Given the description of an element on the screen output the (x, y) to click on. 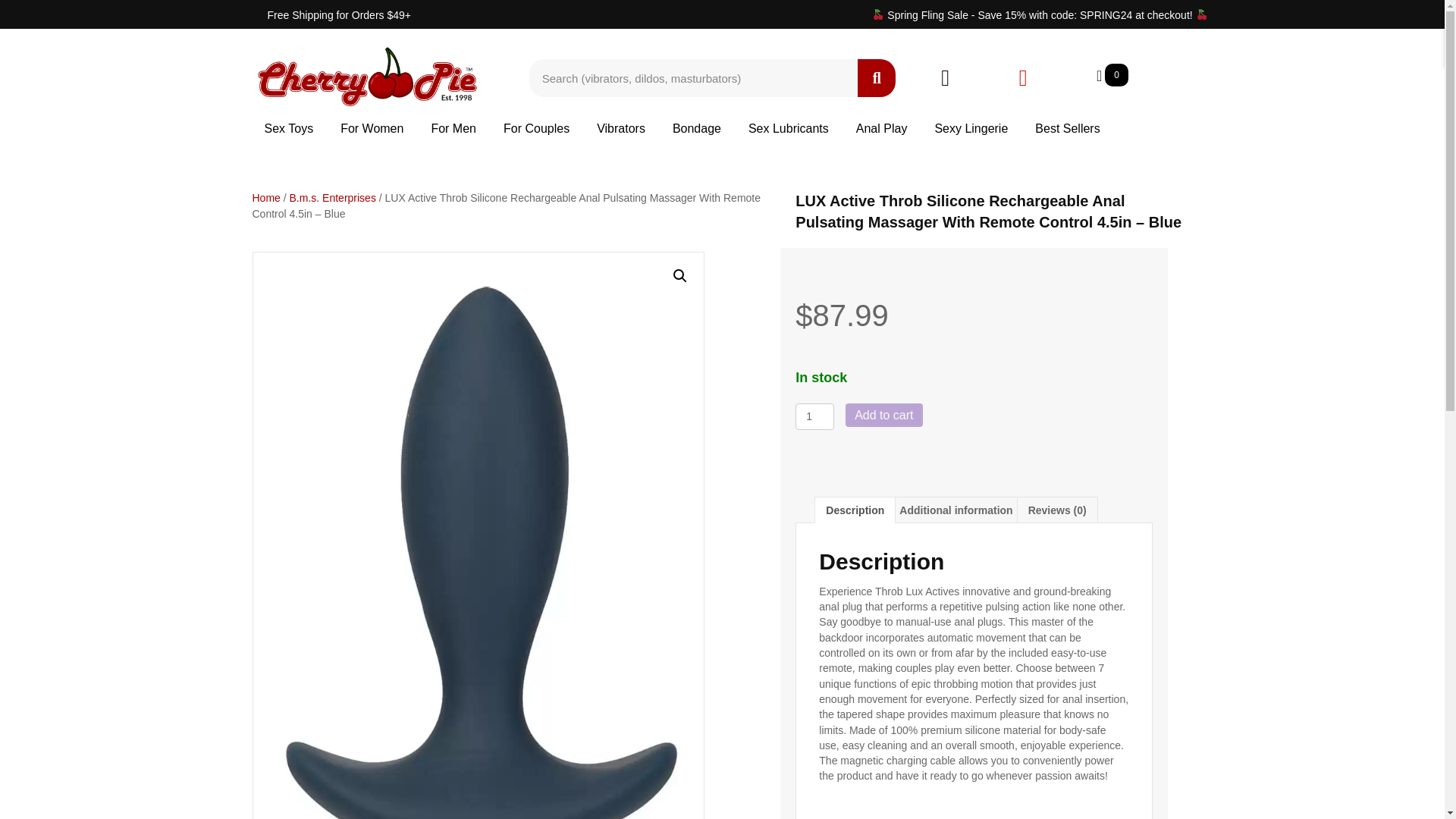
Vibrators (620, 128)
Sexy Lingerie (970, 128)
For Men (453, 128)
Sex Lubricants (788, 128)
Sex Toys (288, 128)
For Women (371, 128)
Add to cart (883, 414)
Anal Play (881, 128)
B.m.s. Enterprises (332, 197)
Search (693, 77)
